Given the description of an element on the screen output the (x, y) to click on. 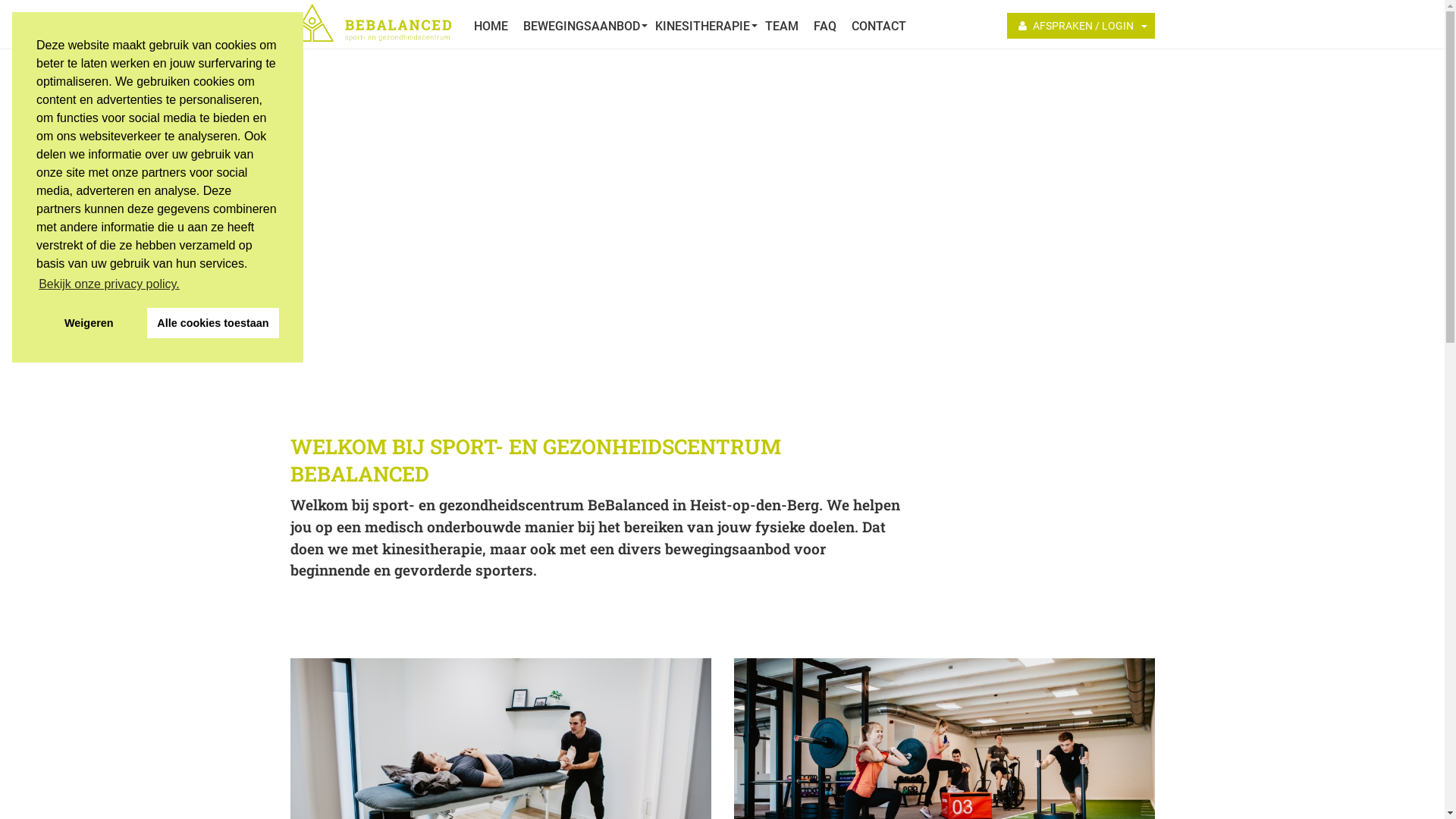
AFSPRAKEN / LOGIN Element type: text (1080, 25)
TEAM Element type: text (781, 26)
Skip to main content Element type: text (0, 0)
Home Element type: hover (370, 36)
CONTACT Element type: text (878, 26)
Bekijk onze privacy policy. Element type: text (109, 284)
+
KINESITHERAPIE Element type: text (702, 26)
Weigeren Element type: text (88, 322)
Alle cookies toestaan Element type: text (213, 322)
HOME Element type: text (490, 26)
+
BEWEGINGSAANBOD Element type: text (581, 26)
FAQ Element type: text (825, 26)
